Given the description of an element on the screen output the (x, y) to click on. 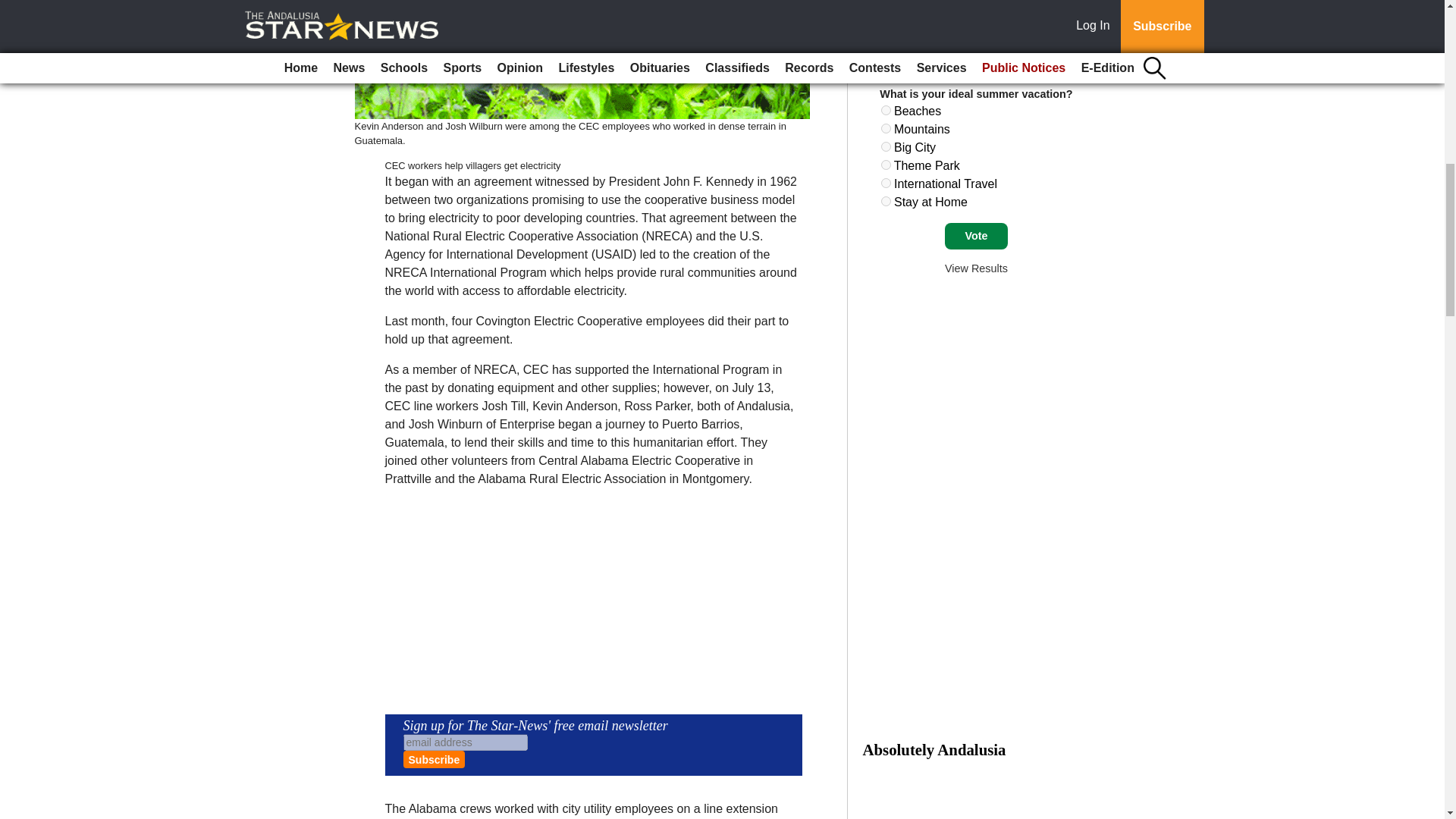
   Vote    (975, 236)
749 (885, 201)
Subscribe (434, 759)
747 (885, 164)
744 (885, 110)
Subscribe (434, 759)
View Results (975, 268)
745 (885, 128)
746 (885, 146)
748 (885, 183)
View Results Of This Poll (975, 268)
